Given the description of an element on the screen output the (x, y) to click on. 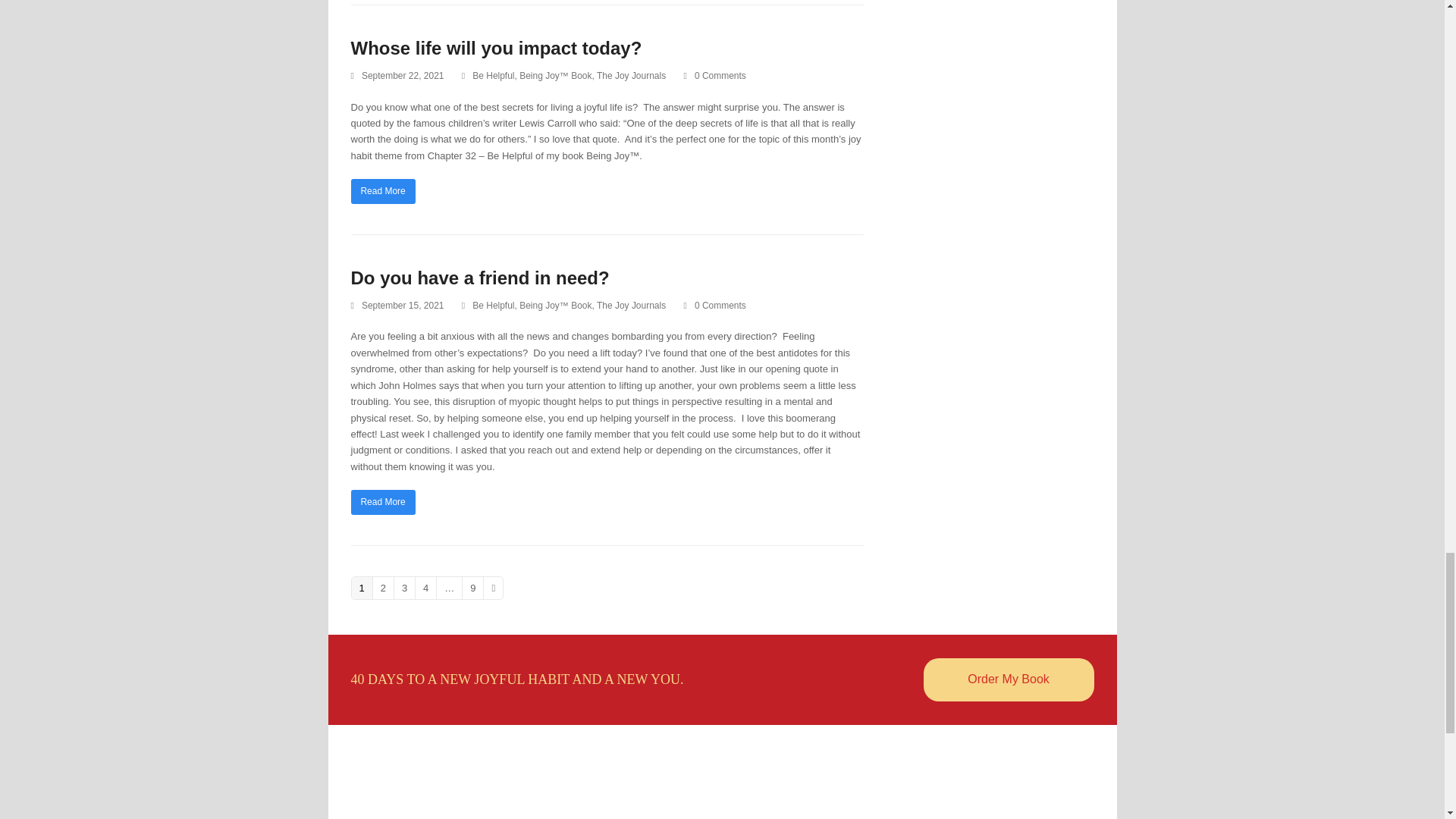
Facebook (708, 809)
0 Comments (714, 76)
Youtube (734, 809)
0 Comments (714, 305)
